Given the description of an element on the screen output the (x, y) to click on. 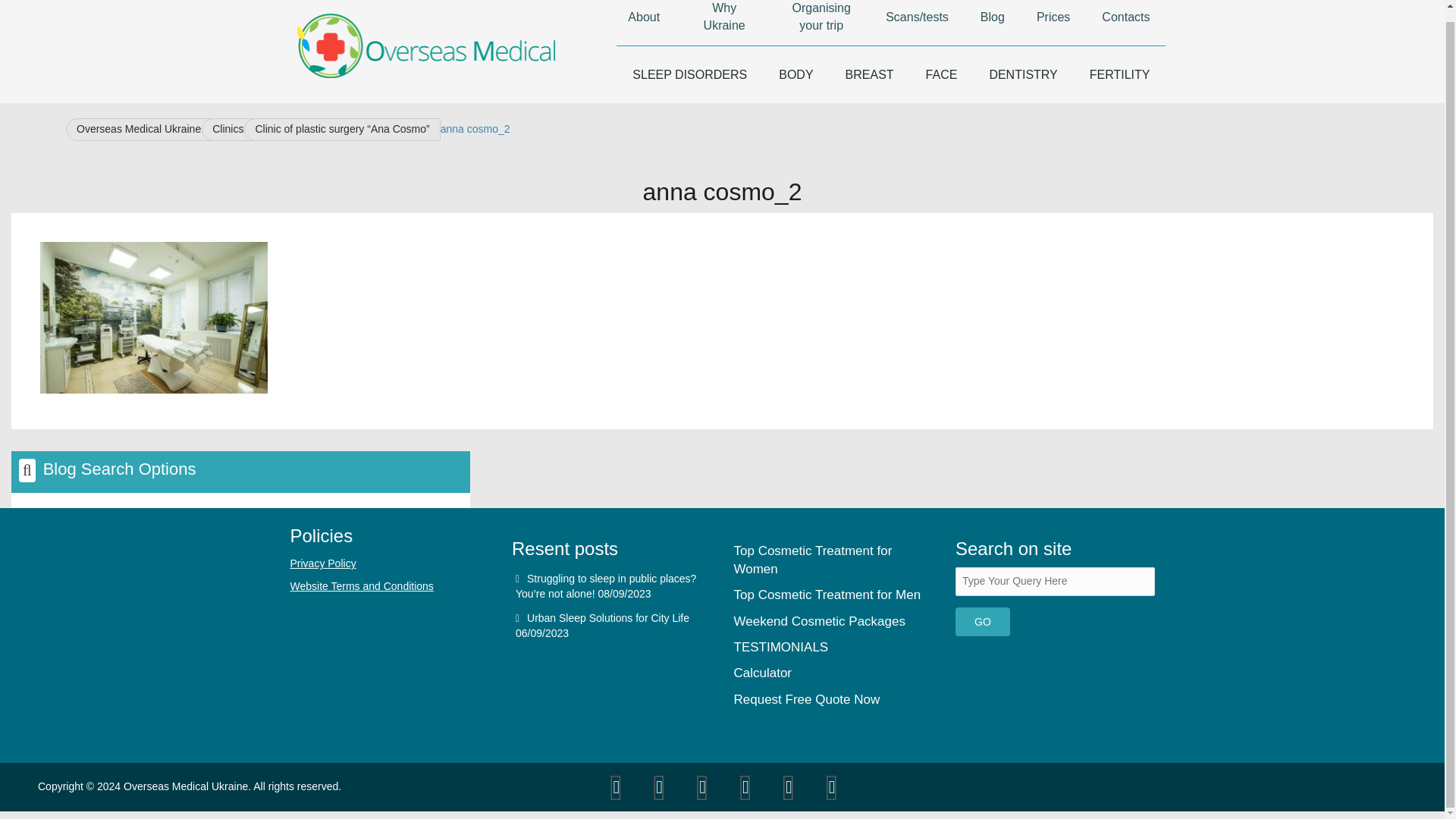
Google-plus (660, 787)
BODY (795, 74)
GO (982, 621)
Go to Overseas Medical Ukraine. (143, 128)
About (643, 22)
Instagram (831, 787)
Youtube (744, 787)
Contacts (1126, 22)
Facebook (702, 787)
Organising your trip (821, 22)
Twitter (616, 787)
Why Ukraine (724, 22)
Prices (1053, 22)
Go to Clinics. (232, 128)
Blog (991, 22)
